Given the description of an element on the screen output the (x, y) to click on. 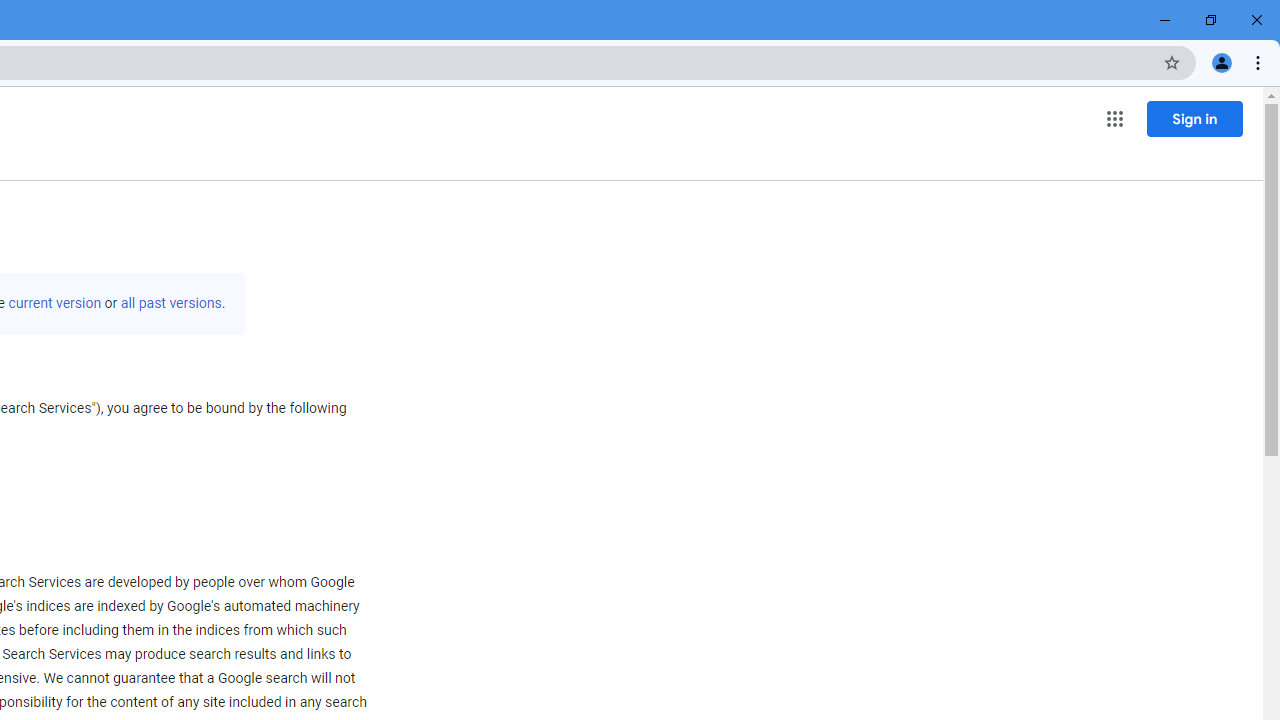
all past versions (170, 303)
current version (54, 303)
